Given the description of an element on the screen output the (x, y) to click on. 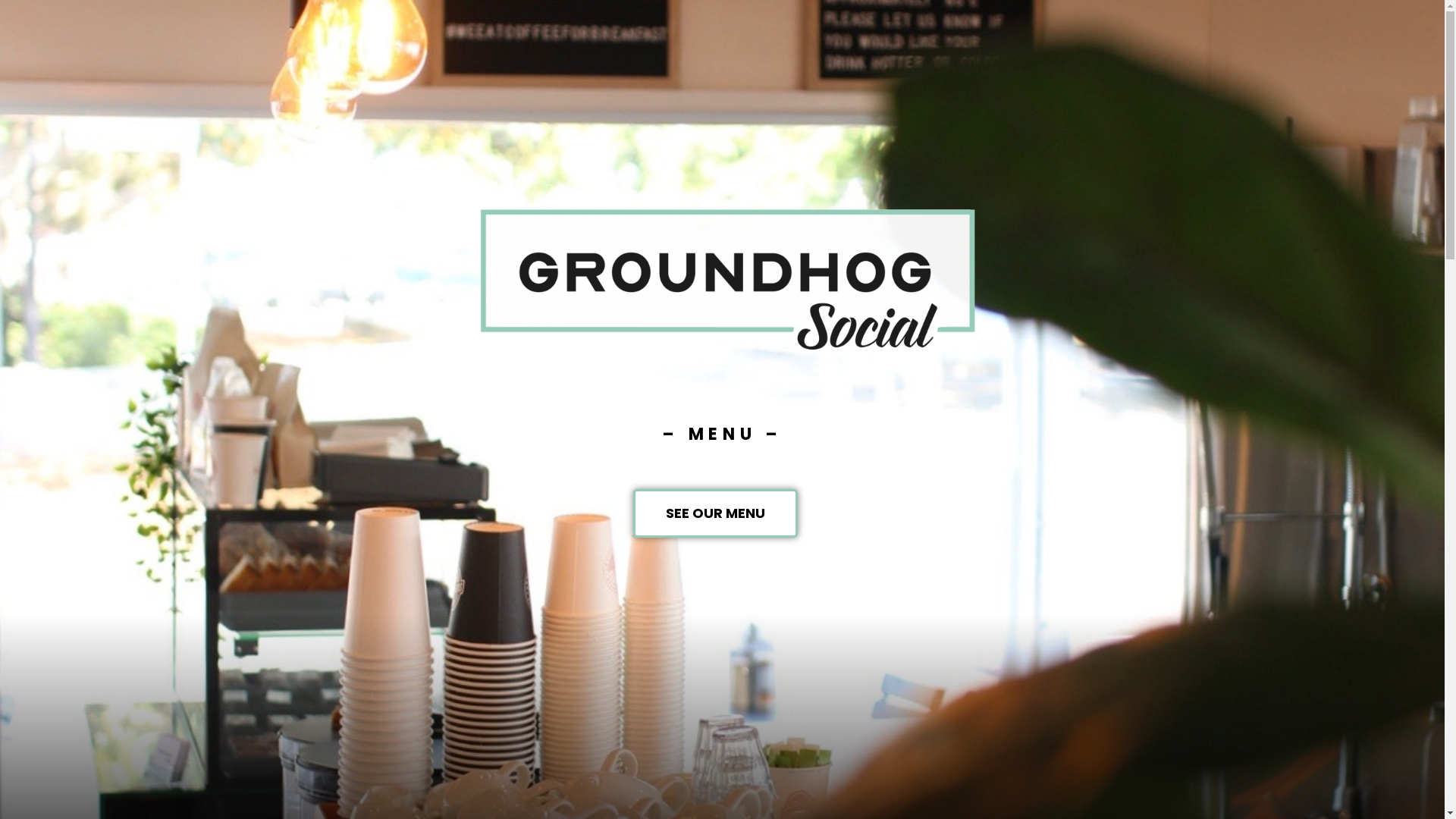
SEE OUR MENU Element type: text (715, 513)
